Given the description of an element on the screen output the (x, y) to click on. 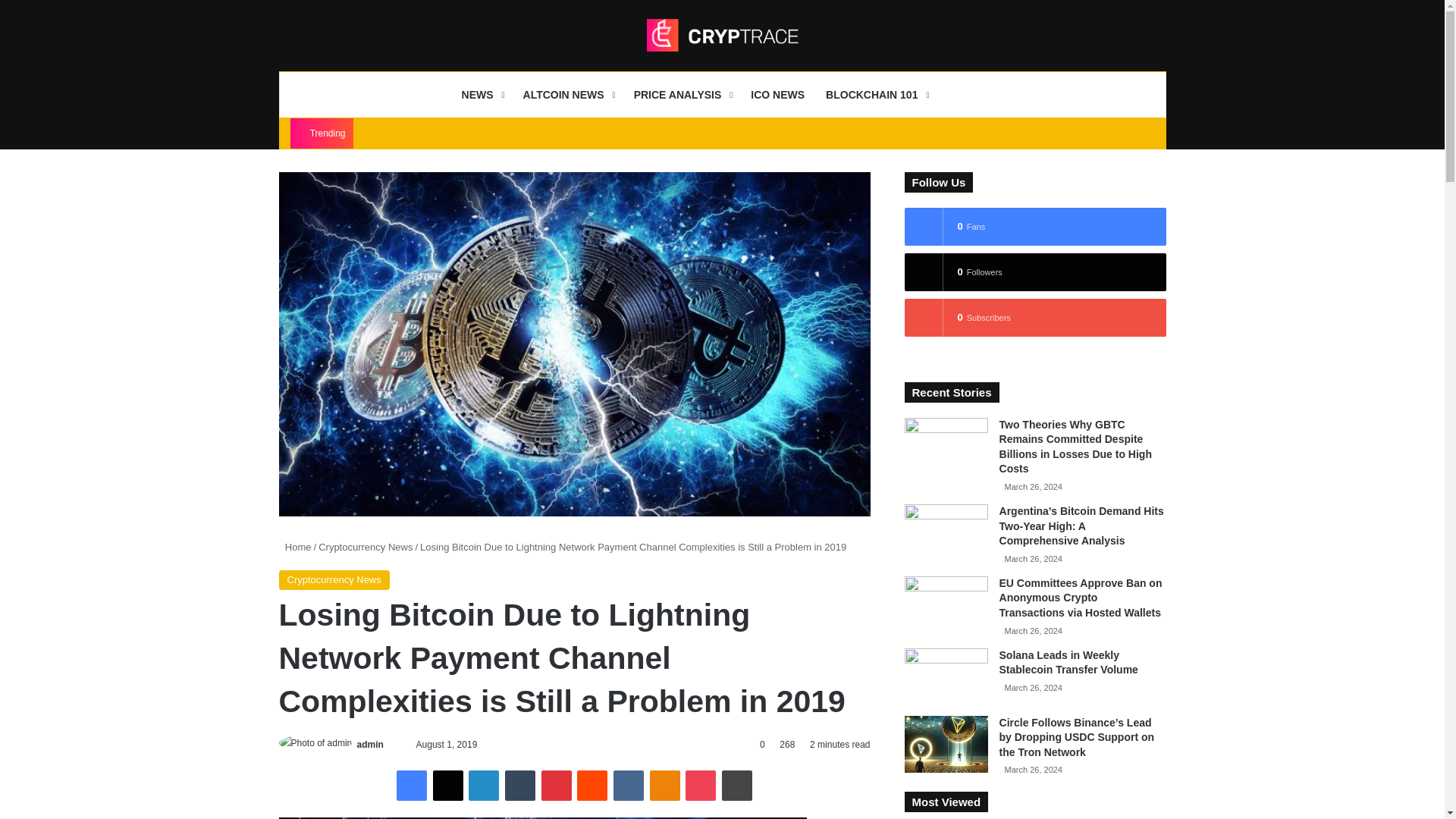
Facebook (411, 785)
ICO NEWS (777, 94)
BLOCKCHAIN 101 (875, 94)
Cryptrace (721, 34)
NEWS (481, 94)
admin (370, 744)
ALTCOIN NEWS (567, 94)
PRICE ANALYSIS (682, 94)
